Given the description of an element on the screen output the (x, y) to click on. 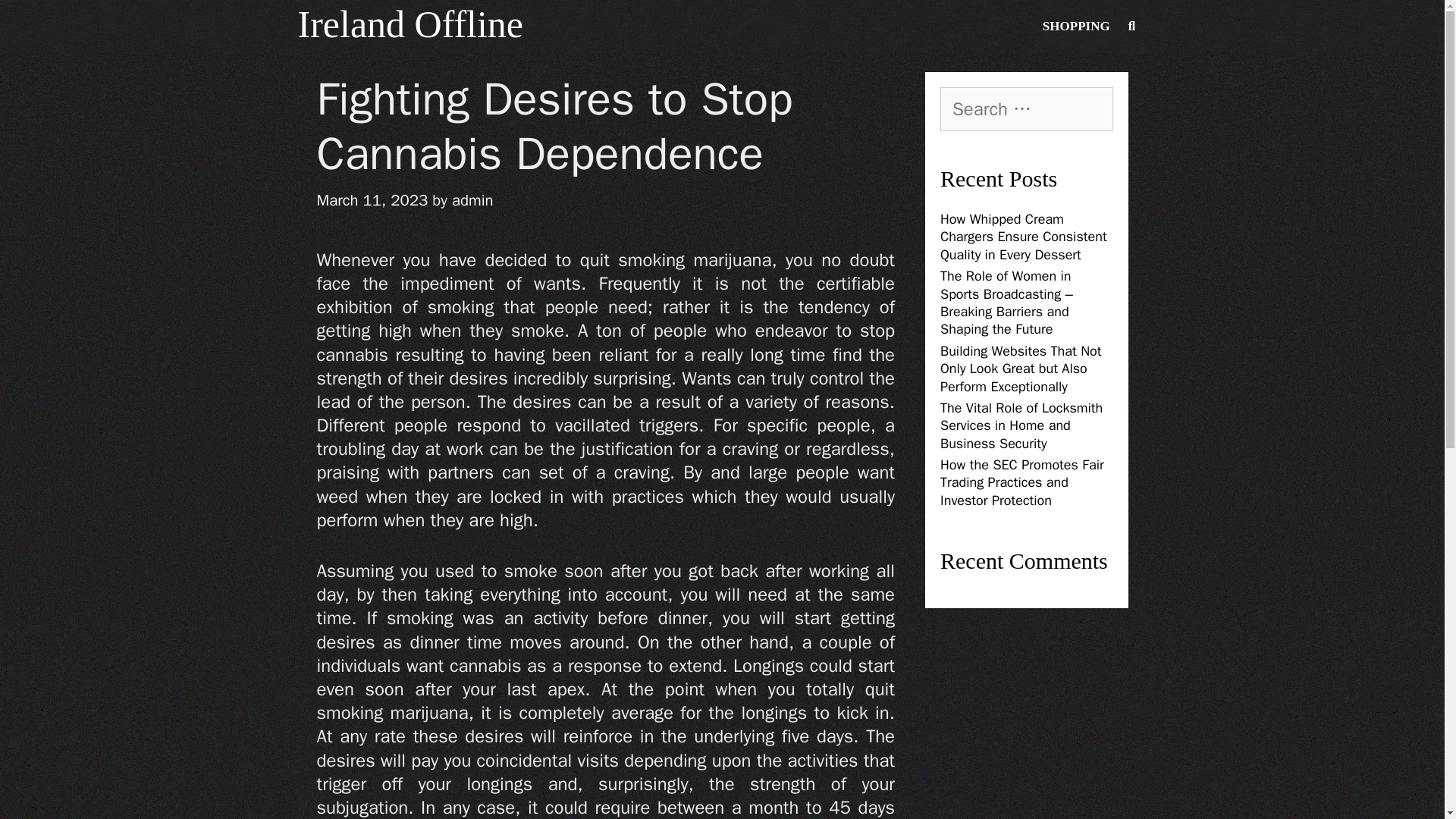
Ireland Offline (409, 24)
SHOPPING (1075, 26)
Search for: (1026, 108)
Search (56, 26)
Search (41, 22)
March 11, 2023 (372, 199)
6:14 am (372, 199)
admin (472, 199)
